Given the description of an element on the screen output the (x, y) to click on. 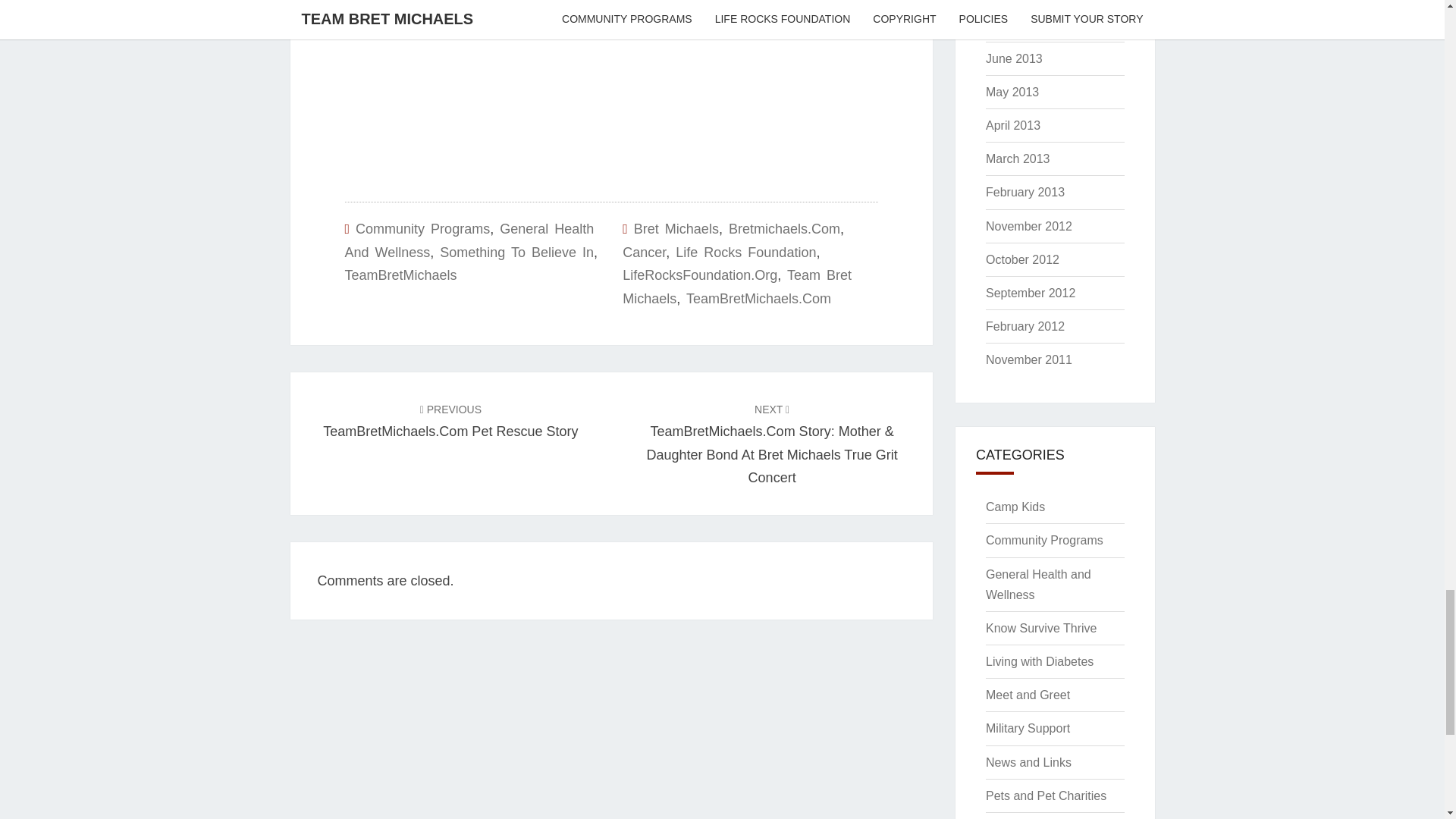
Team Bret Michaels (737, 286)
Something To Believe In (516, 252)
Bretmichaels.Com (784, 228)
Life Rocks Foundation (745, 252)
LifeRocksFoundation.Org (700, 274)
General Health And Wellness (468, 240)
Bret Michaels (676, 228)
Cancer (644, 252)
TeamBretMichaels.Com (758, 298)
